Given the description of an element on the screen output the (x, y) to click on. 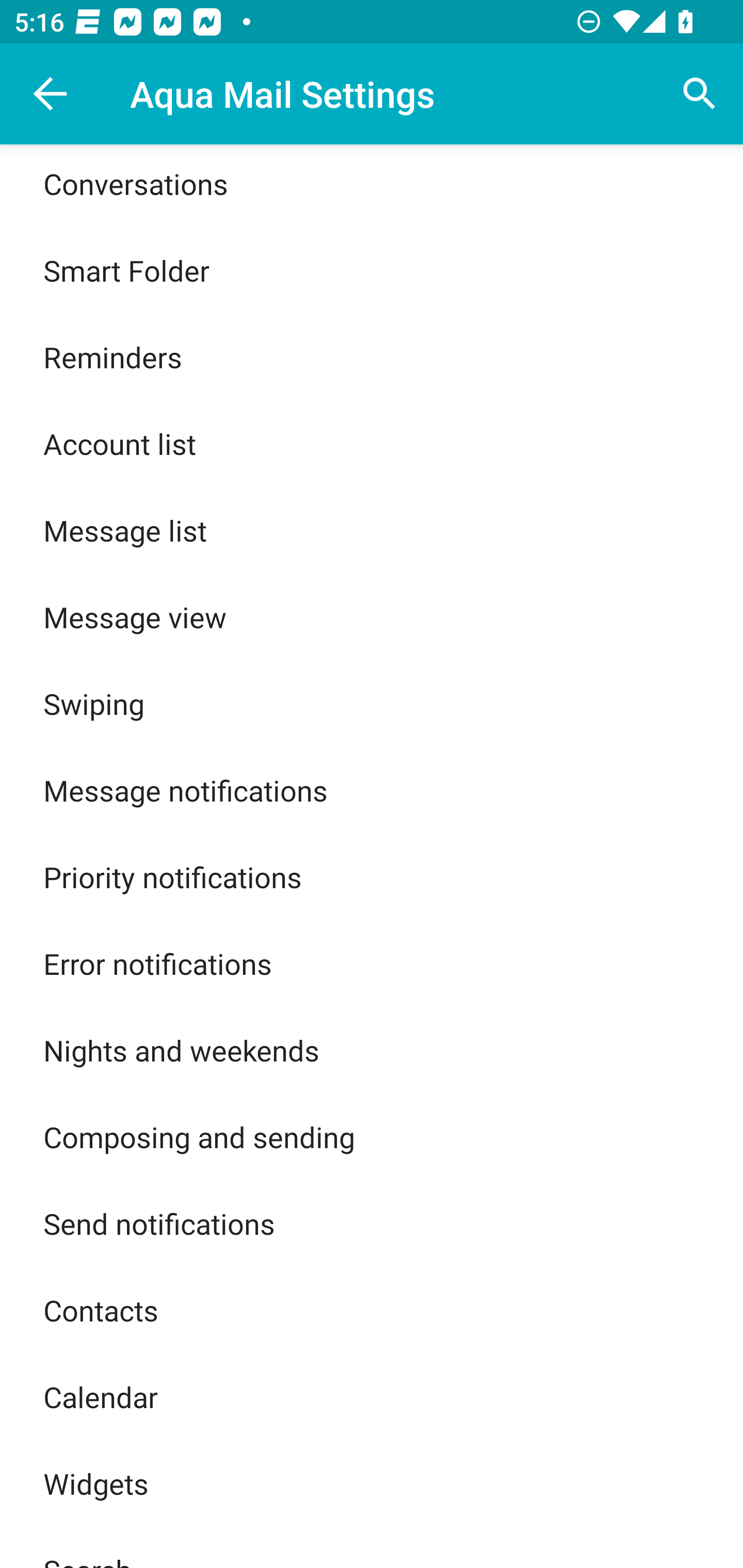
Navigate up (50, 93)
Search (699, 93)
Conversations (371, 185)
Smart Folder (371, 270)
Reminders (371, 356)
Account list (371, 443)
Message list (371, 530)
Message view (371, 616)
Swiping (371, 703)
Message notifications (371, 790)
Priority notifications (371, 877)
Error notifications (371, 963)
Nights and weekends (371, 1049)
Composing and sending (371, 1136)
Send notifications (371, 1223)
Contacts (371, 1309)
Calendar (371, 1396)
Widgets (371, 1483)
